Given the description of an element on the screen output the (x, y) to click on. 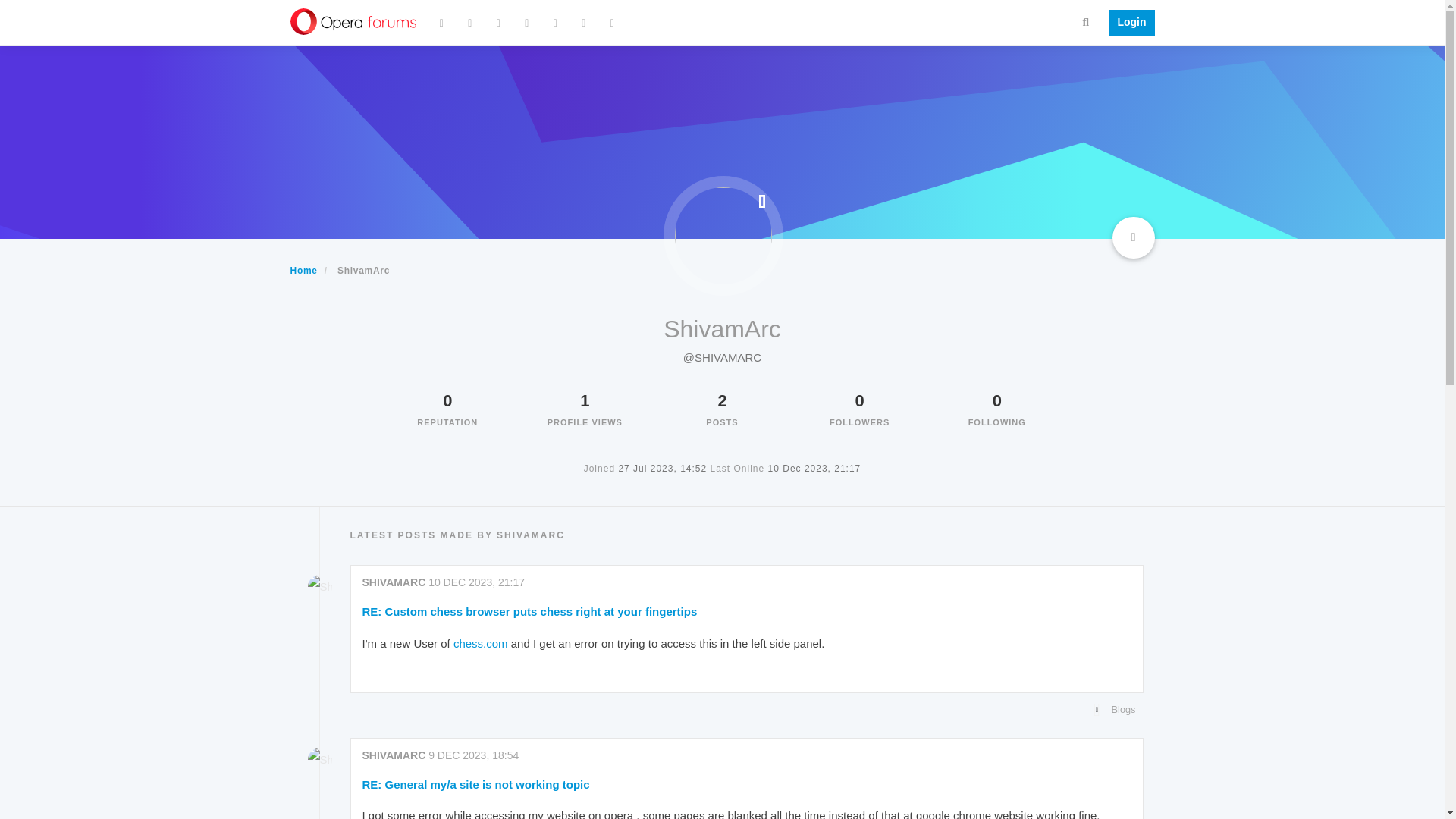
Home (303, 270)
Search (1085, 21)
Login (1127, 22)
